Given the description of an element on the screen output the (x, y) to click on. 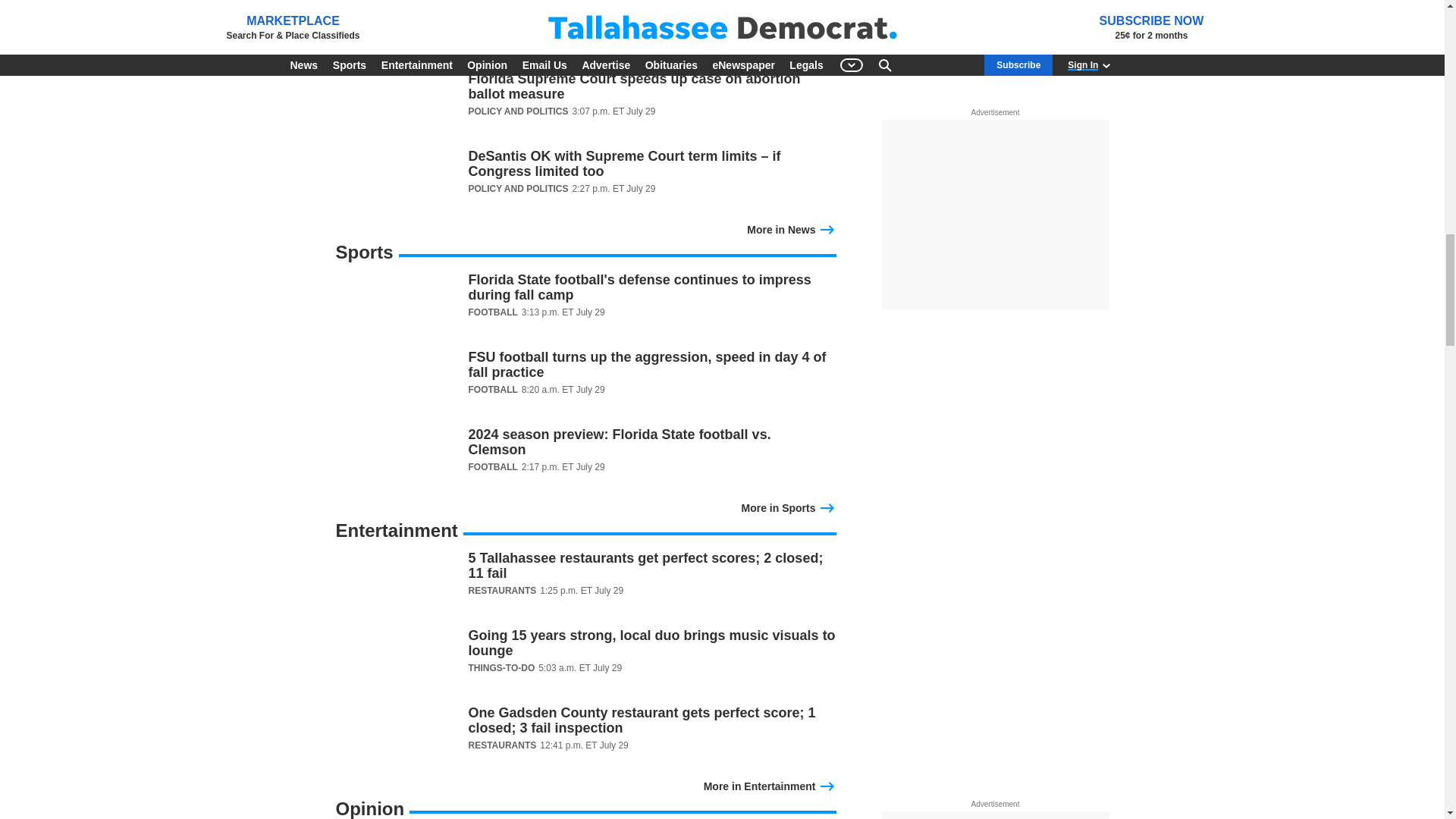
More in News (790, 227)
Watch as a tornado whips up in a family pool (584, 93)
